Given the description of an element on the screen output the (x, y) to click on. 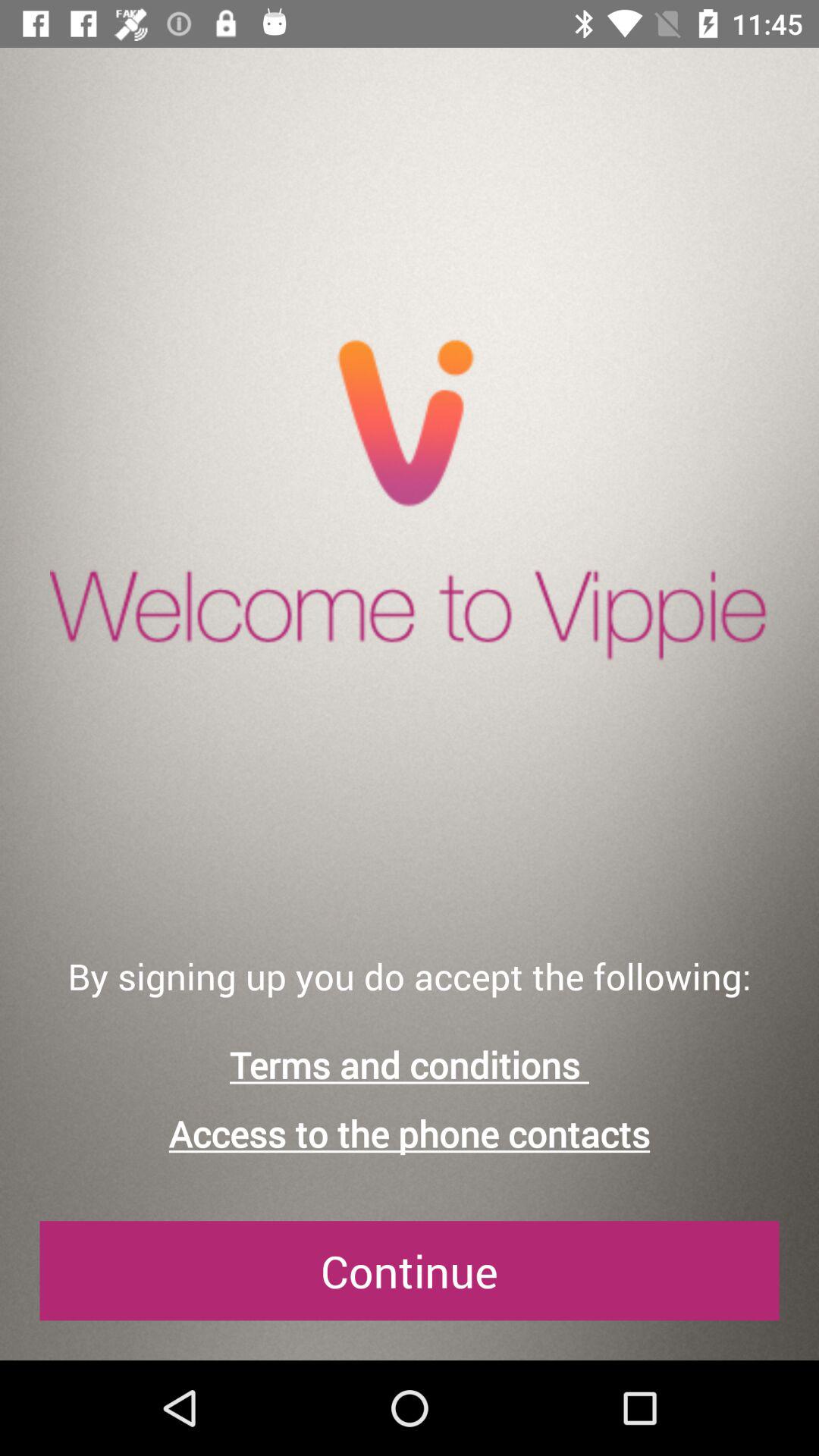
tap terms and conditions  icon (409, 1064)
